Given the description of an element on the screen output the (x, y) to click on. 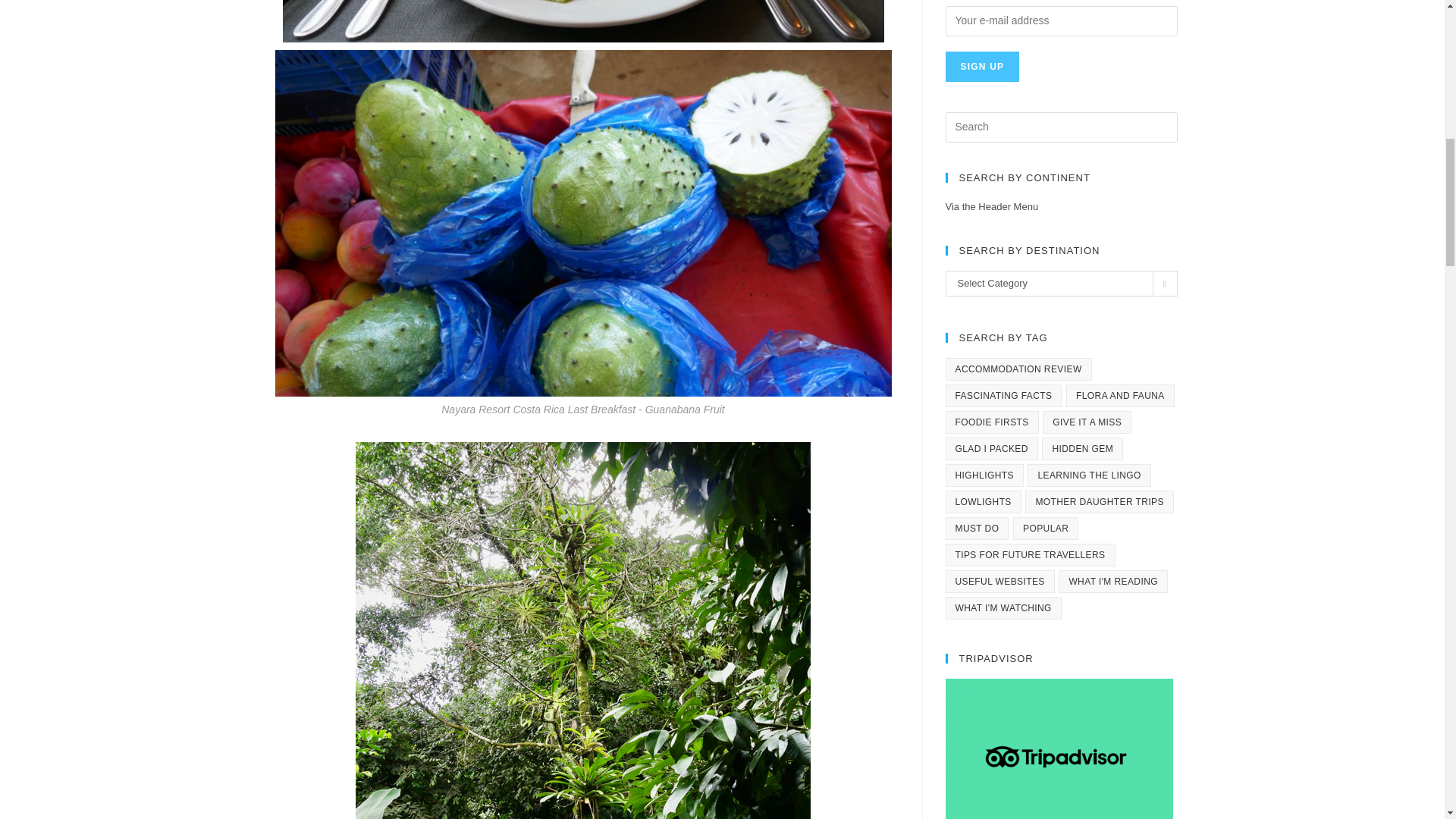
TRIPADVISOR (1058, 748)
Sign up (981, 66)
